Given the description of an element on the screen output the (x, y) to click on. 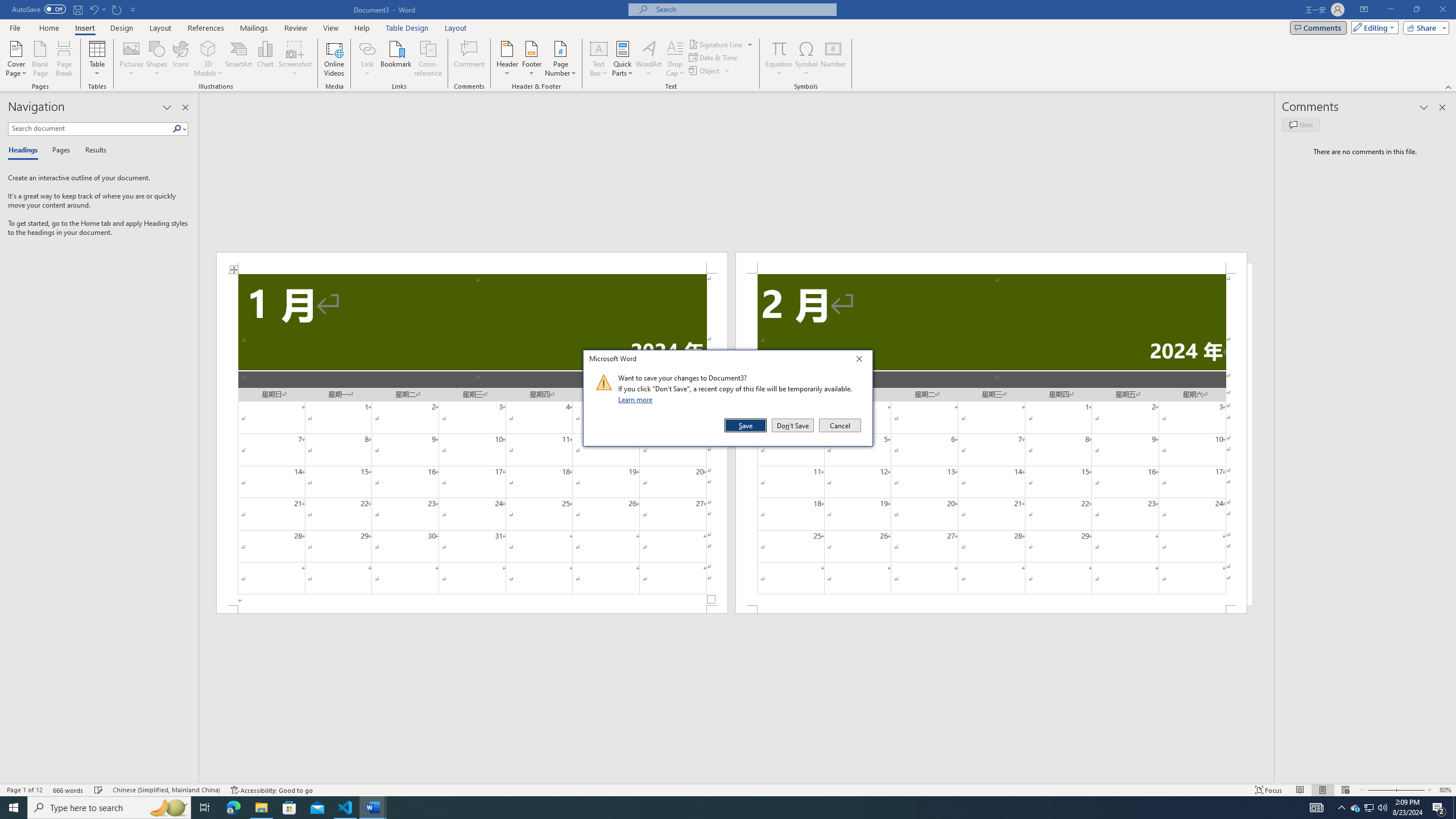
Number... (833, 58)
Notification Chevron (1341, 807)
Microsoft search (742, 9)
Word - 2 running windows (373, 807)
Chart... (265, 58)
Table (97, 58)
Footer -Section 1- (471, 609)
Header -Section 1- (471, 263)
